Given the description of an element on the screen output the (x, y) to click on. 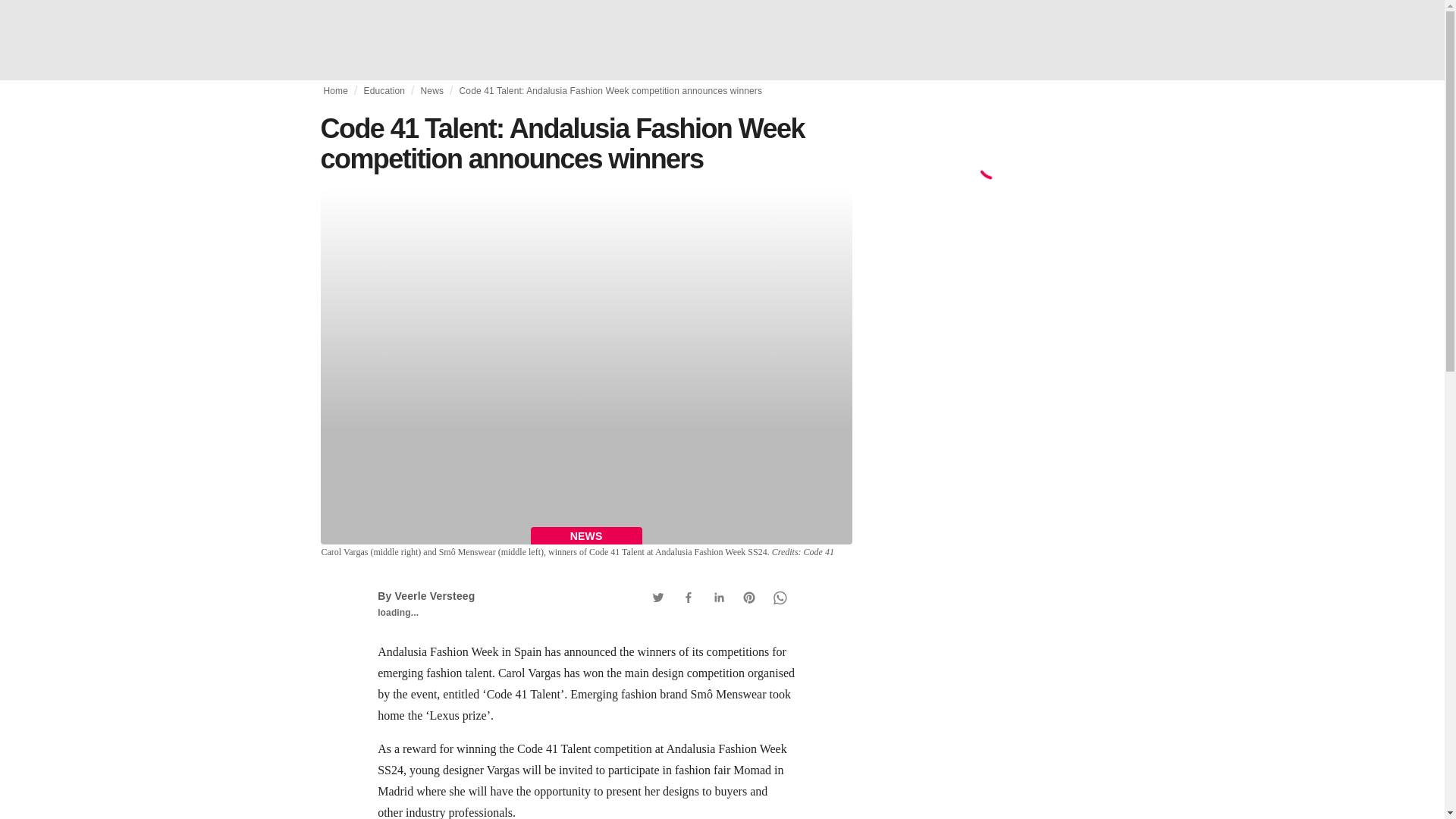
Home (335, 90)
News (432, 90)
Education (385, 90)
By Veerle Versteeg (425, 595)
